Given the description of an element on the screen output the (x, y) to click on. 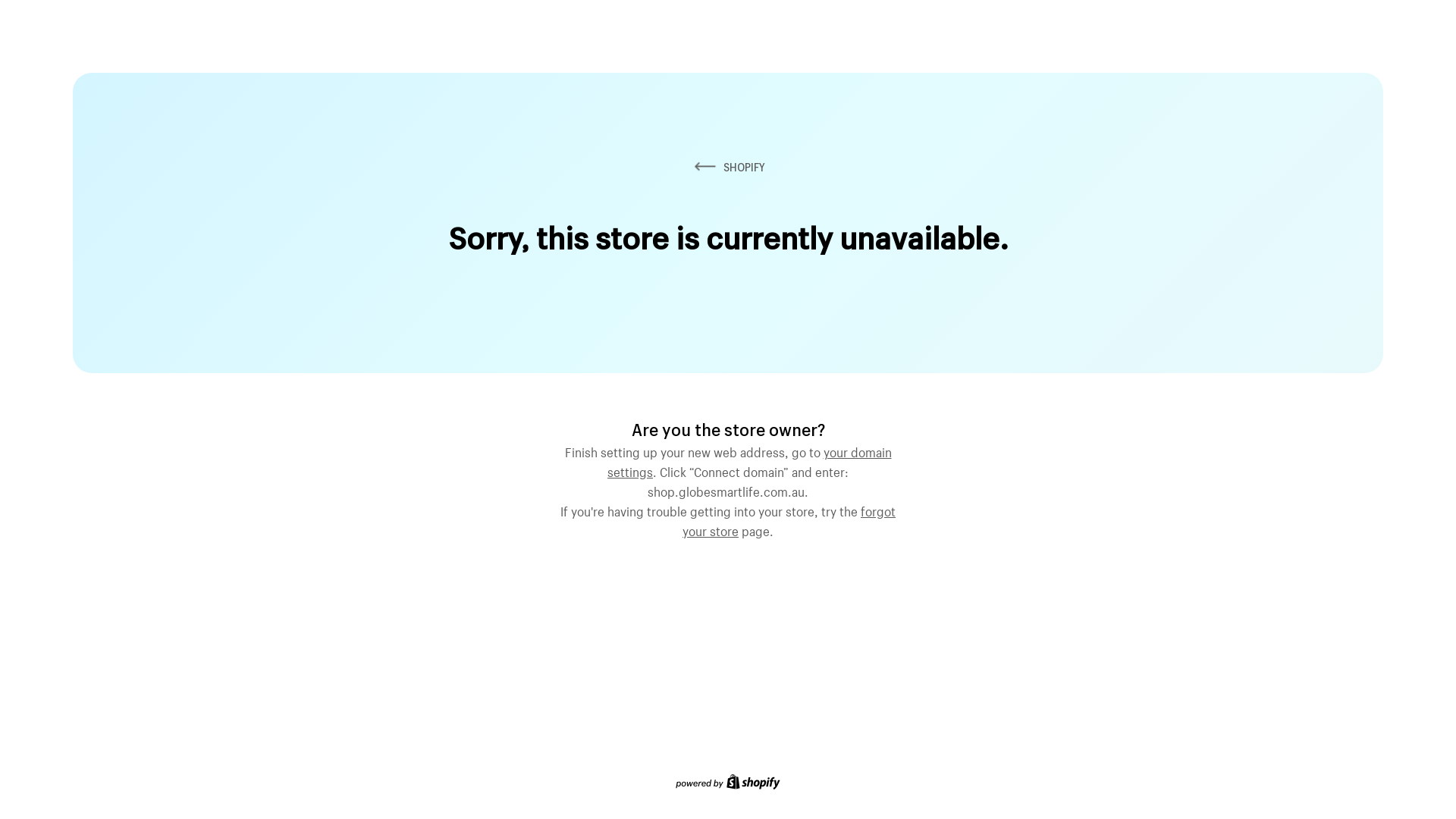
your domain settings Element type: text (749, 460)
forgot your store Element type: text (788, 519)
SHOPIFY Element type: text (727, 167)
